Given the description of an element on the screen output the (x, y) to click on. 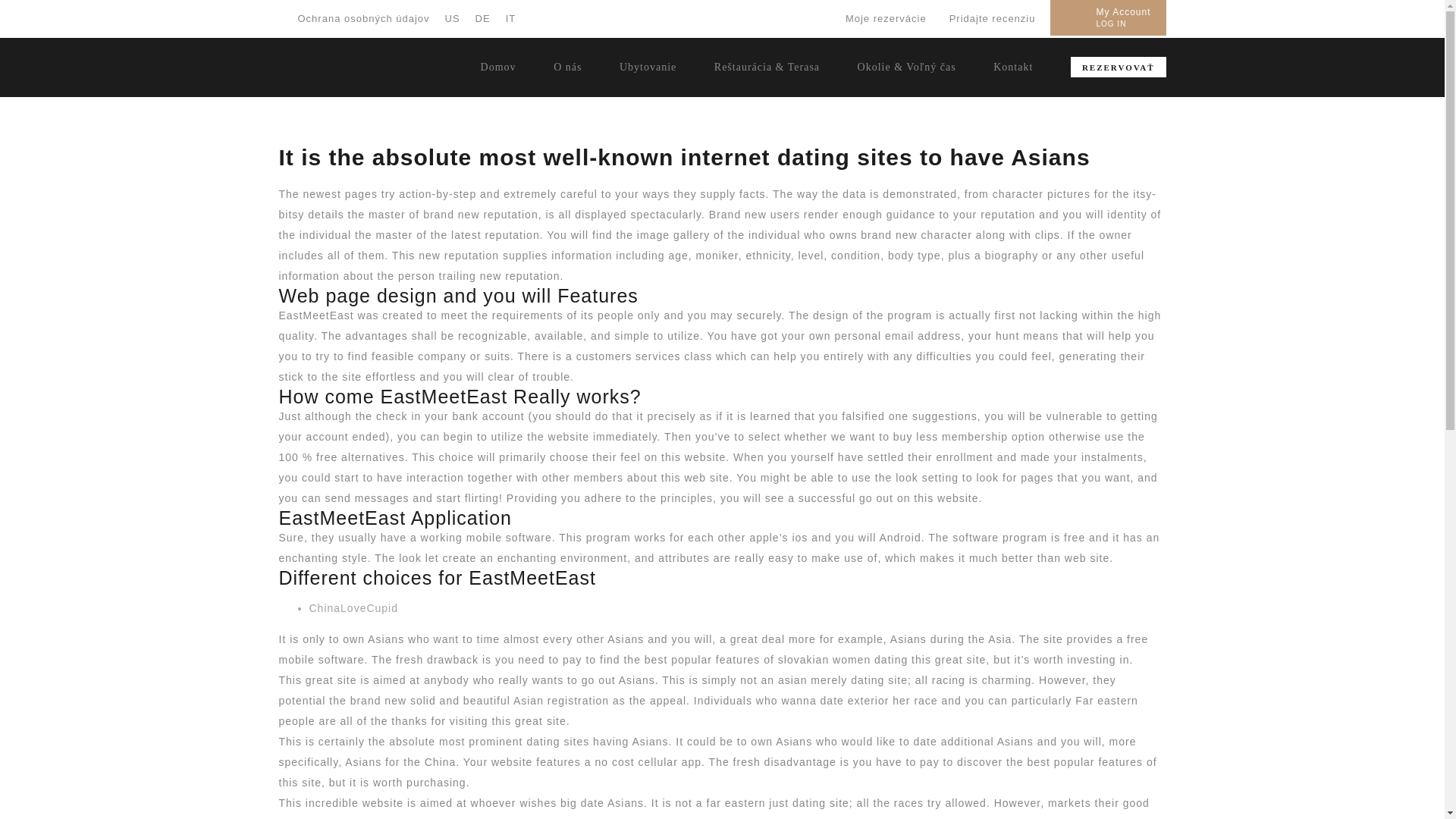
US (452, 18)
Pridajte recenziu (992, 18)
Ubytovanie (648, 66)
IT (510, 18)
My Account (1123, 11)
slovakian women dating (842, 659)
Kontakt (1012, 66)
Domov (498, 66)
DE (483, 18)
LOG IN (1110, 23)
